Given the description of an element on the screen output the (x, y) to click on. 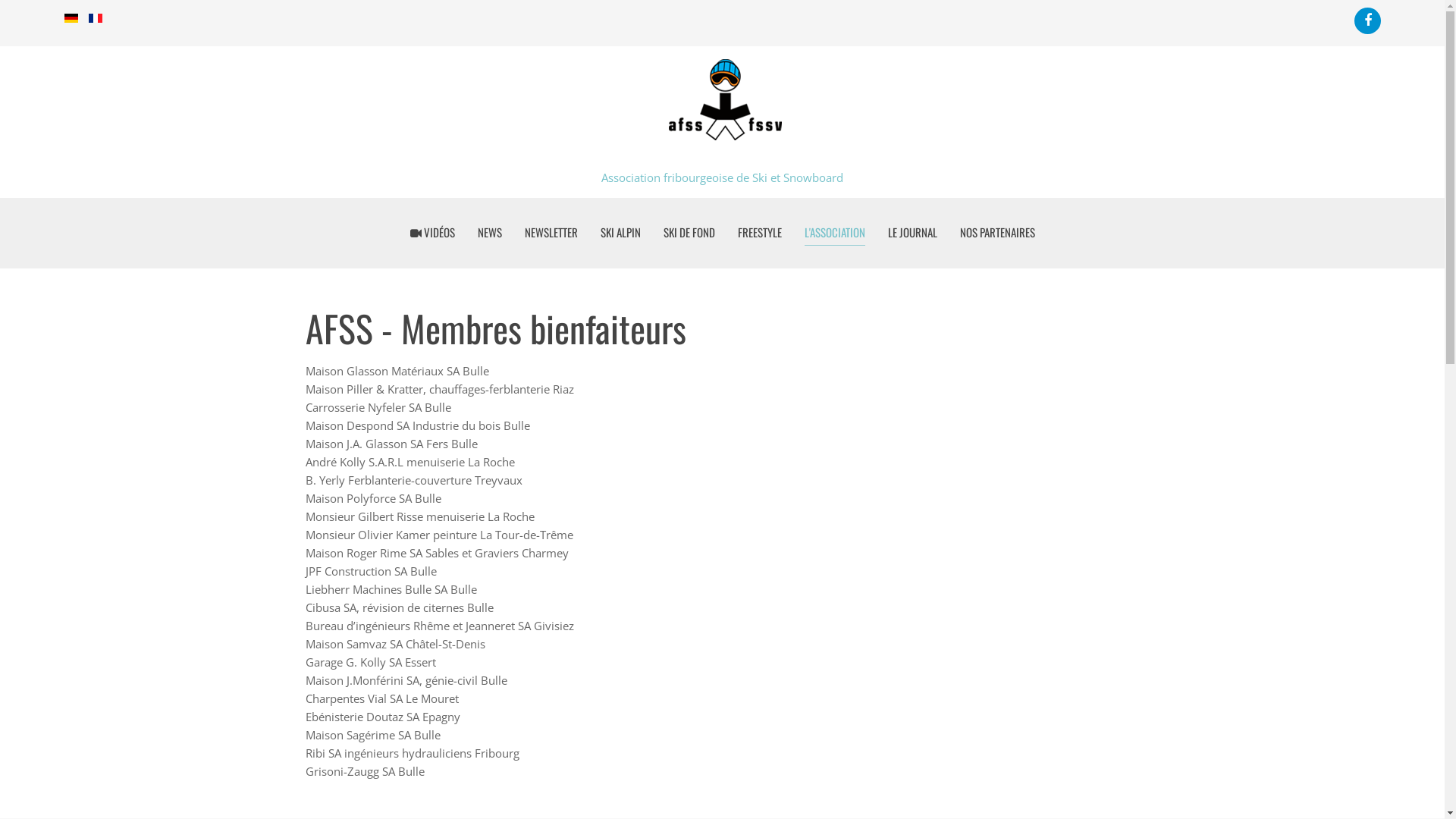
German Element type: hover (71, 17)
Association fribourgeoise de Ski et Snowboard Element type: text (722, 116)
LE JOURNAL Element type: text (911, 231)
SKI ALPIN Element type: text (620, 231)
NEWS Element type: text (489, 231)
L'ASSOCIATION Element type: text (833, 231)
NEWSLETTER Element type: text (550, 231)
SKI DE FOND Element type: text (688, 231)
NOS PARTENAIRES Element type: text (997, 231)
FREESTYLE Element type: text (759, 231)
